Given the description of an element on the screen output the (x, y) to click on. 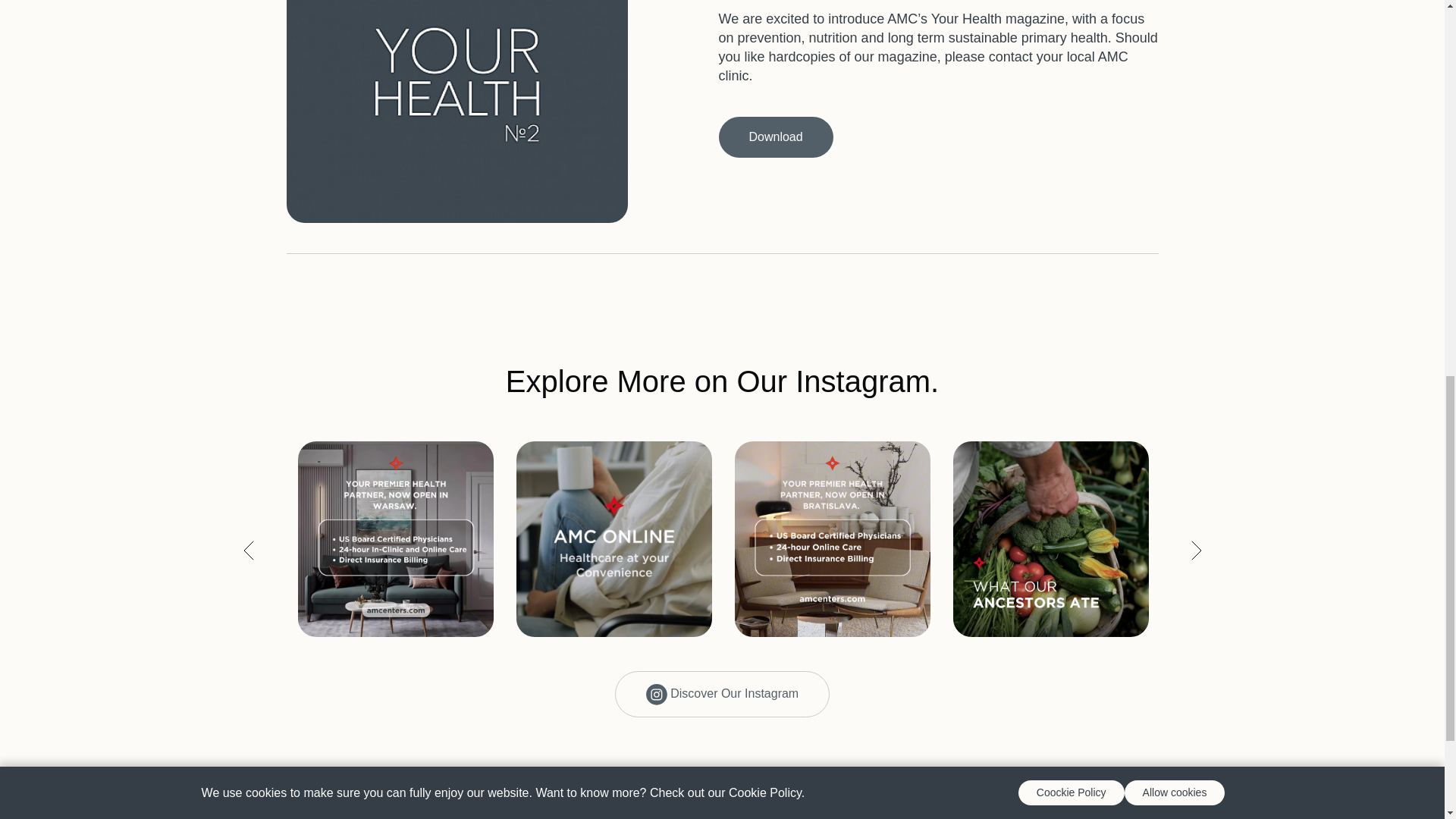
Previous (248, 550)
Download (775, 137)
